Given the description of an element on the screen output the (x, y) to click on. 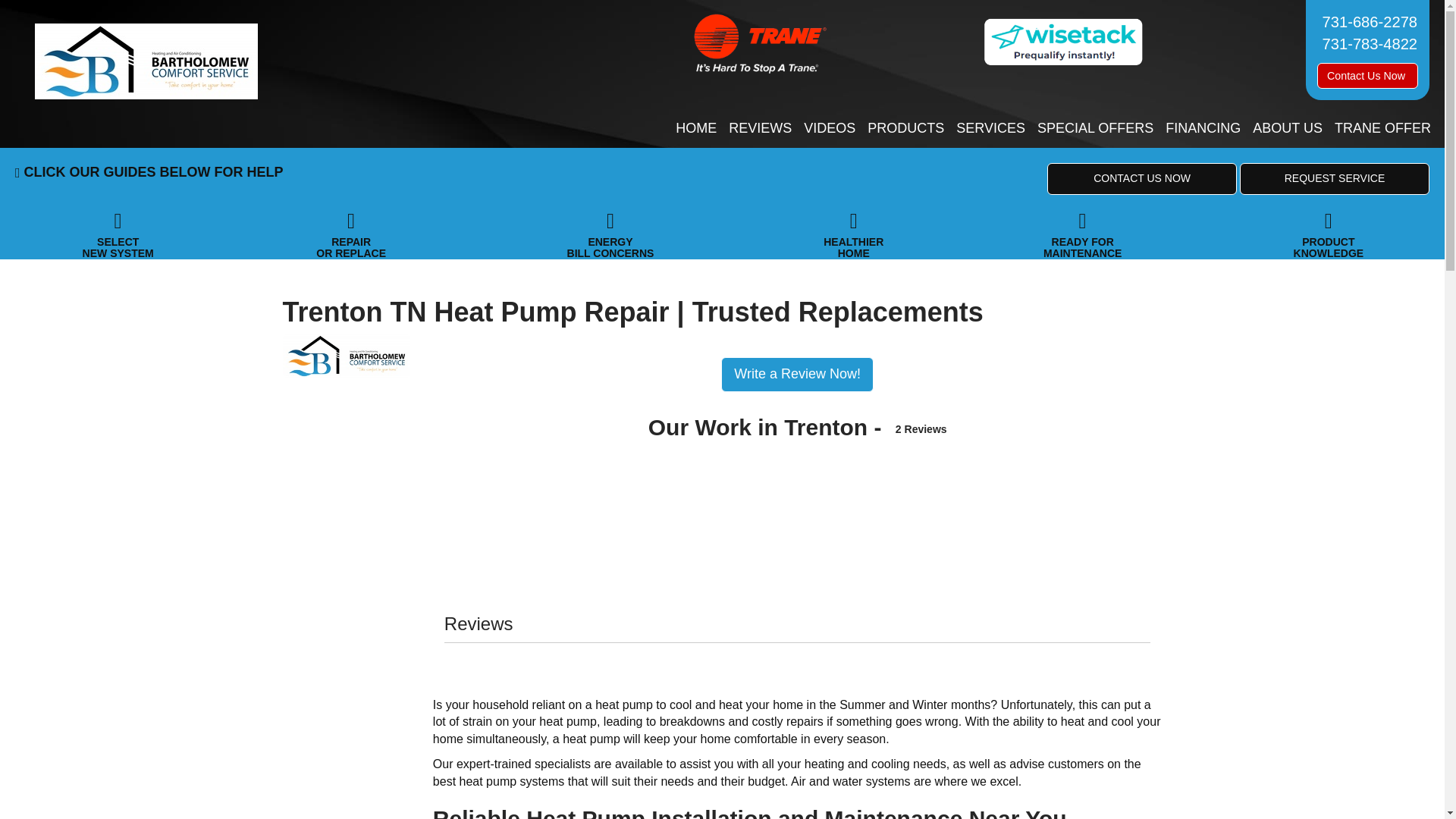
HOME (695, 128)
ABOUT US (1286, 128)
VIDEOS (829, 128)
SERVICES (990, 128)
Contact Us Now  (1367, 75)
REVIEWS (759, 128)
FINANCING (1202, 128)
 731-783-4822 (1366, 44)
PRODUCTS (905, 128)
SPECIAL OFFERS (1094, 128)
 731-686-2278 (1366, 21)
